Given the description of an element on the screen output the (x, y) to click on. 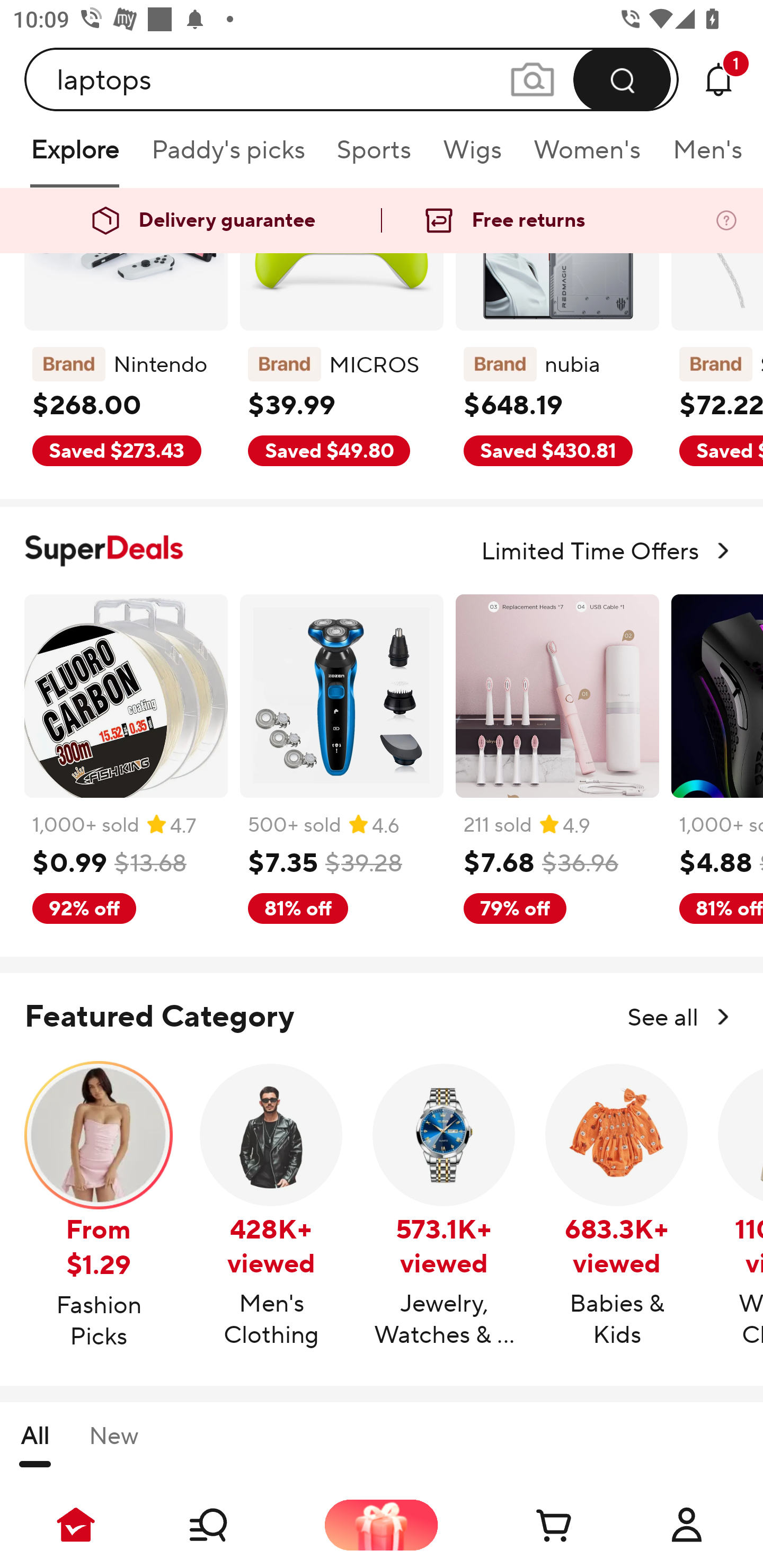
laptops (351, 79)
Paddy's picks (227, 155)
Sports (373, 155)
Wigs (472, 155)
Women's (586, 155)
Men's (701, 155)
From $1.29 Fashion Picks (98, 1207)
428K+ viewed Men's Clothing (270, 1206)
573.1K+ viewed Jewelry, Watches & Accessories (444, 1206)
683.3K+ viewed Babies & Kids (616, 1206)
New (113, 1443)
Shop (228, 1524)
Cart (533, 1524)
Account (686, 1524)
